Given the description of an element on the screen output the (x, y) to click on. 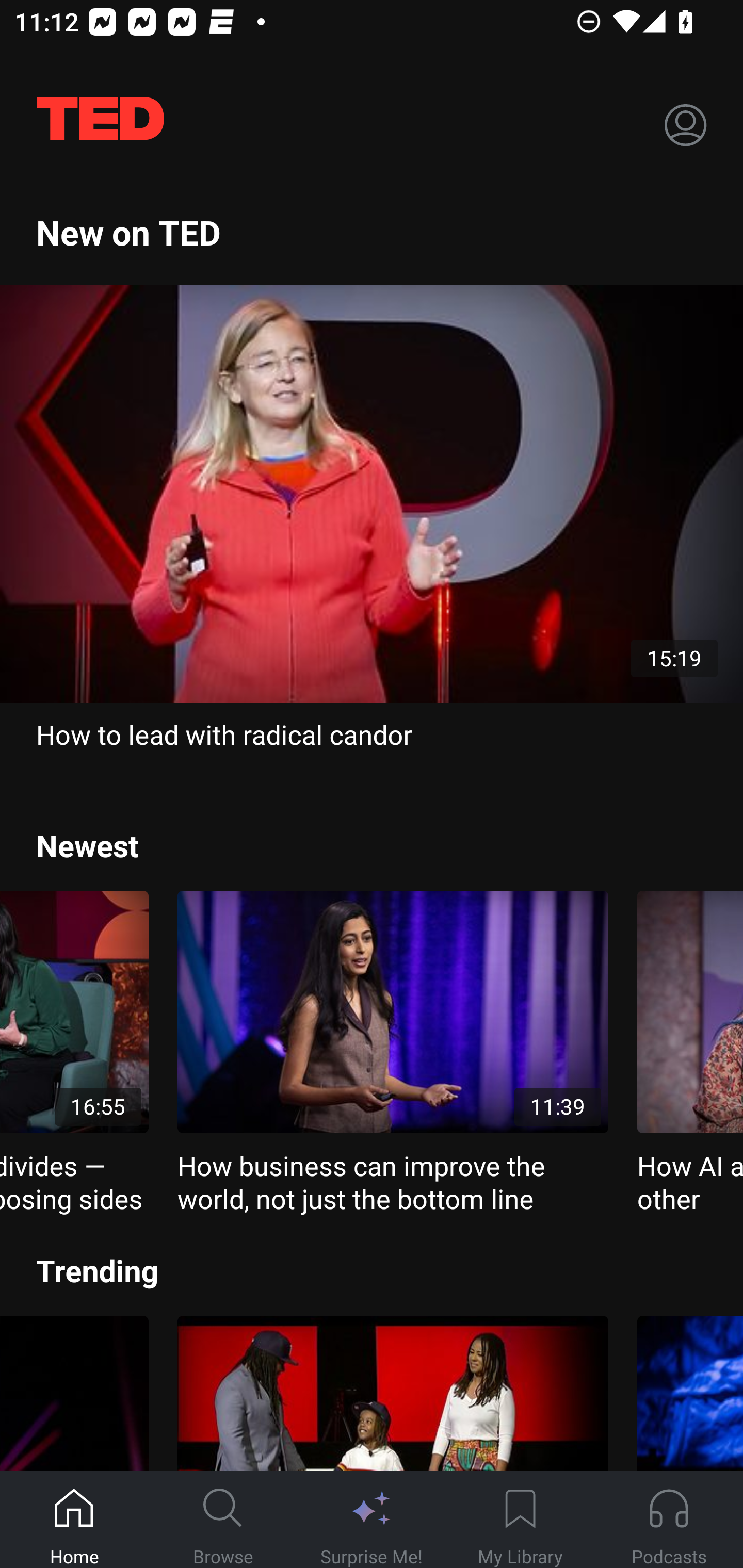
Home (74, 1520)
Browse (222, 1520)
Surprise Me! (371, 1520)
My Library (519, 1520)
Podcasts (668, 1520)
